Given the description of an element on the screen output the (x, y) to click on. 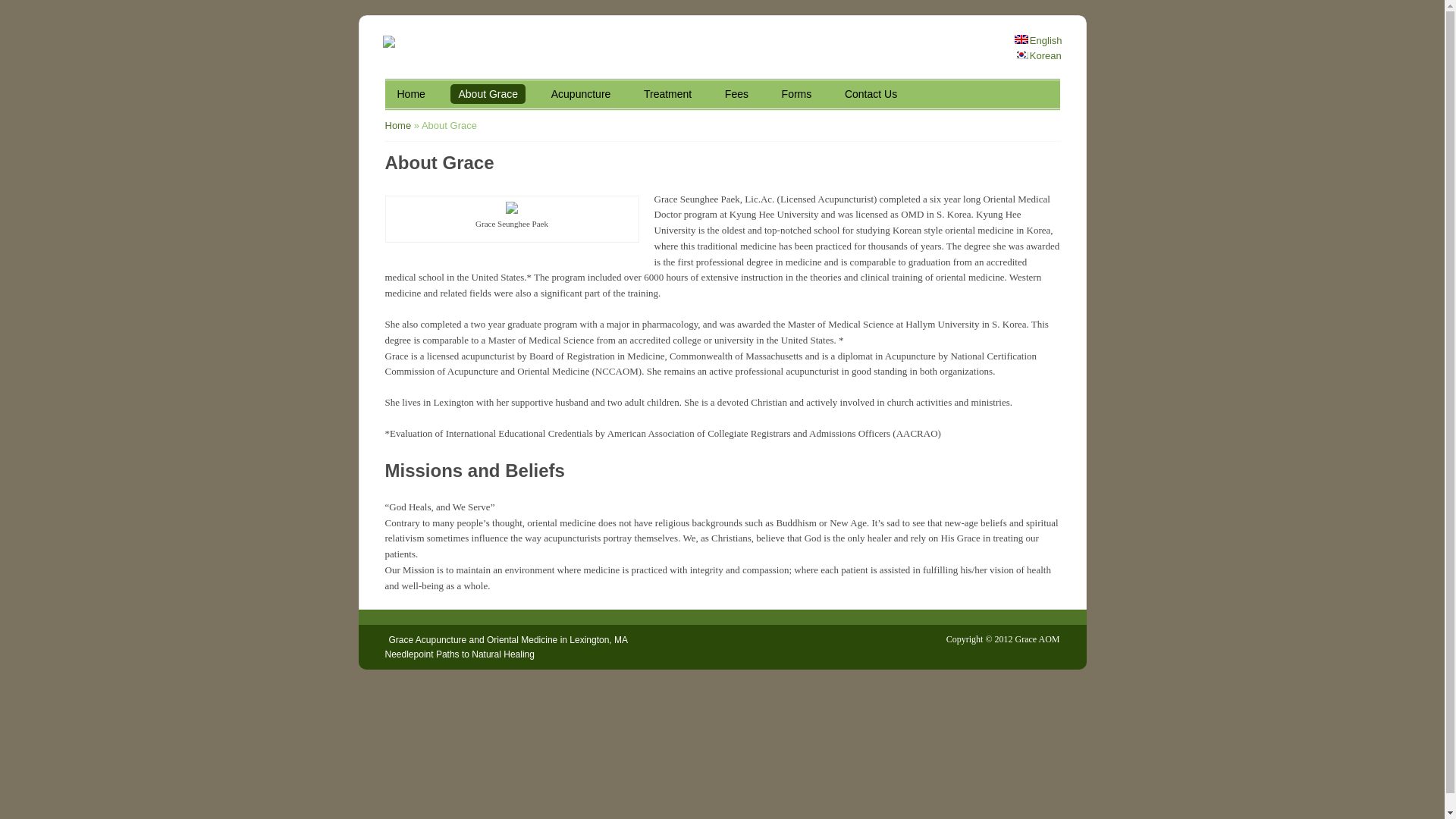
English (1038, 40)
Korean (1037, 55)
Acupuncture (580, 94)
Korean (1037, 55)
Home (411, 94)
Home (398, 125)
English (1038, 40)
Contact Us (870, 94)
About Grace (487, 94)
